Given the description of an element on the screen output the (x, y) to click on. 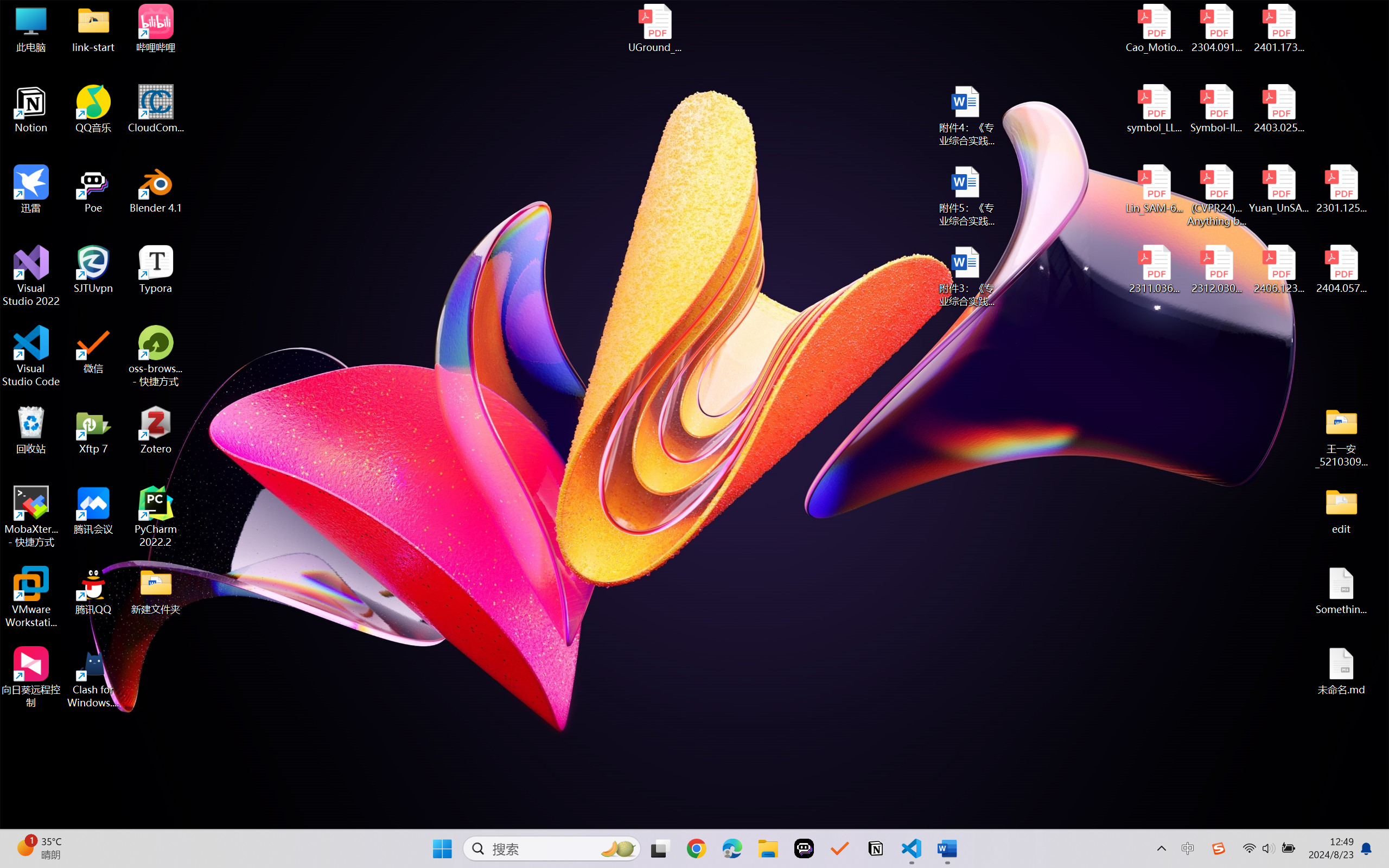
symbol_LLM.pdf (1154, 109)
Visual Studio Code (31, 355)
2403.02502v1.pdf (1278, 109)
CloudCompare (156, 109)
